Given the description of an element on the screen output the (x, y) to click on. 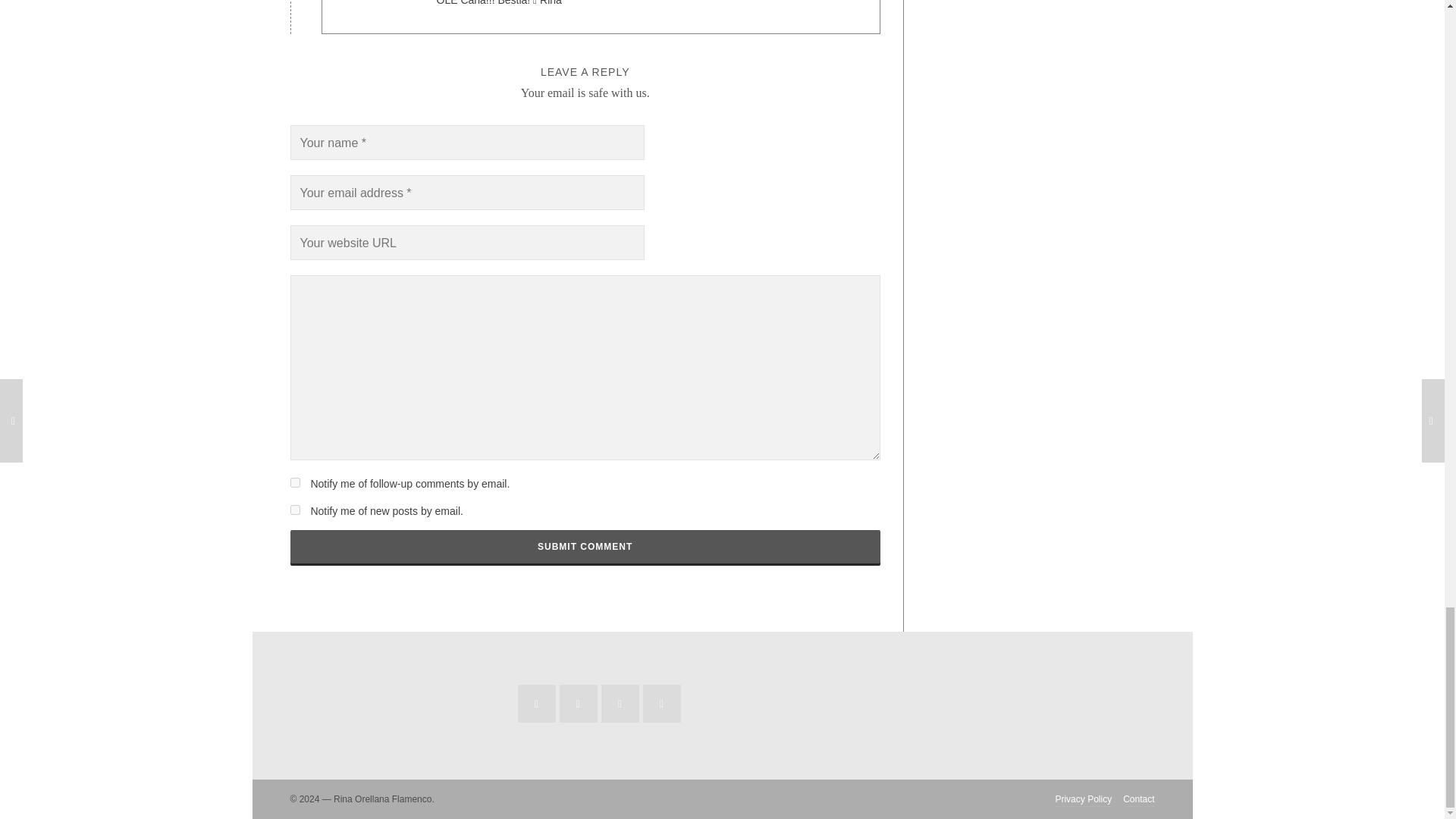
subscribe (294, 482)
subscribe (294, 510)
Submit Comment (584, 546)
